Given the description of an element on the screen output the (x, y) to click on. 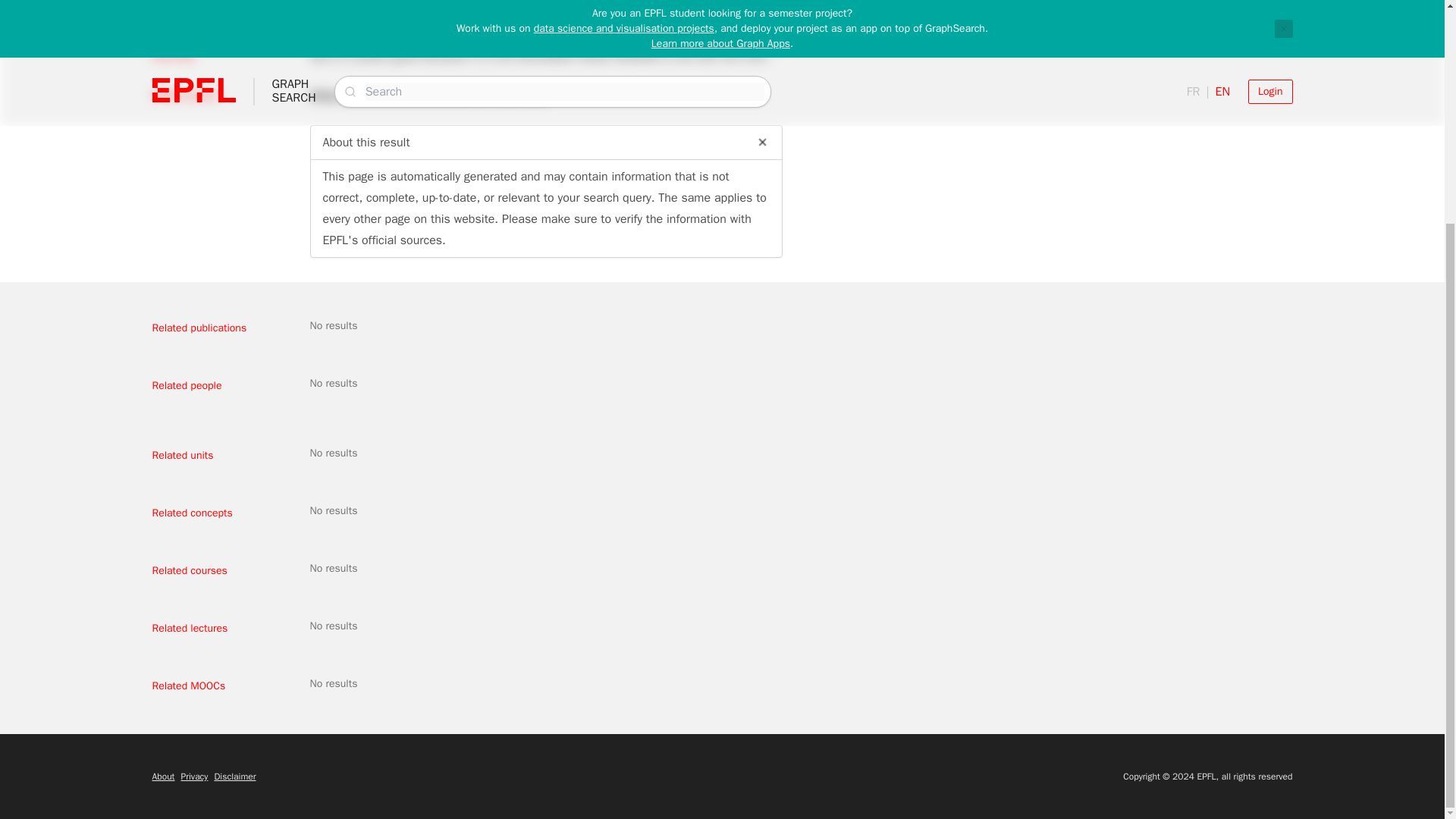
Disclaimer (235, 776)
About (162, 776)
Privacy (194, 776)
